Given the description of an element on the screen output the (x, y) to click on. 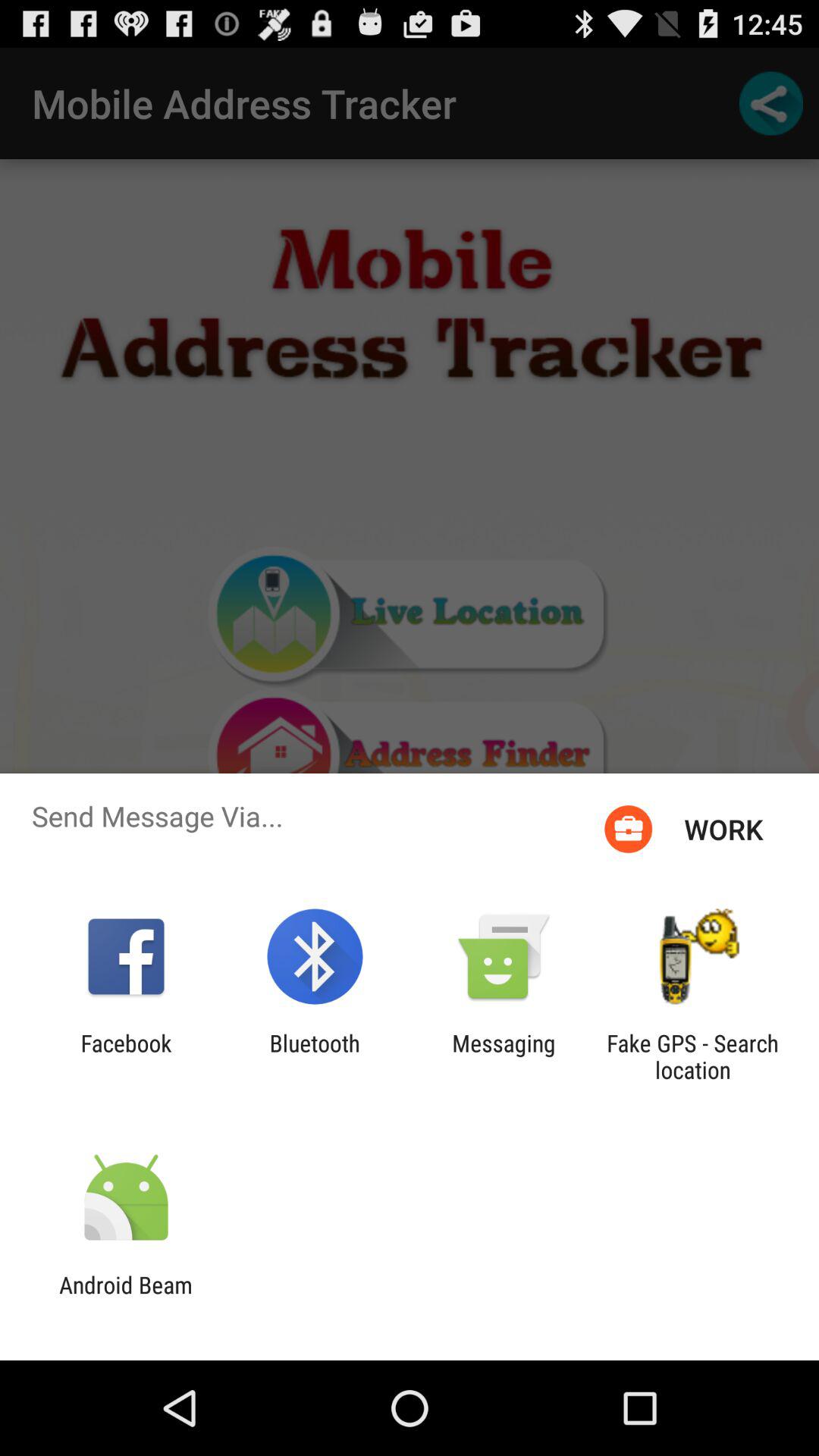
turn off app next to the messaging icon (314, 1056)
